Given the description of an element on the screen output the (x, y) to click on. 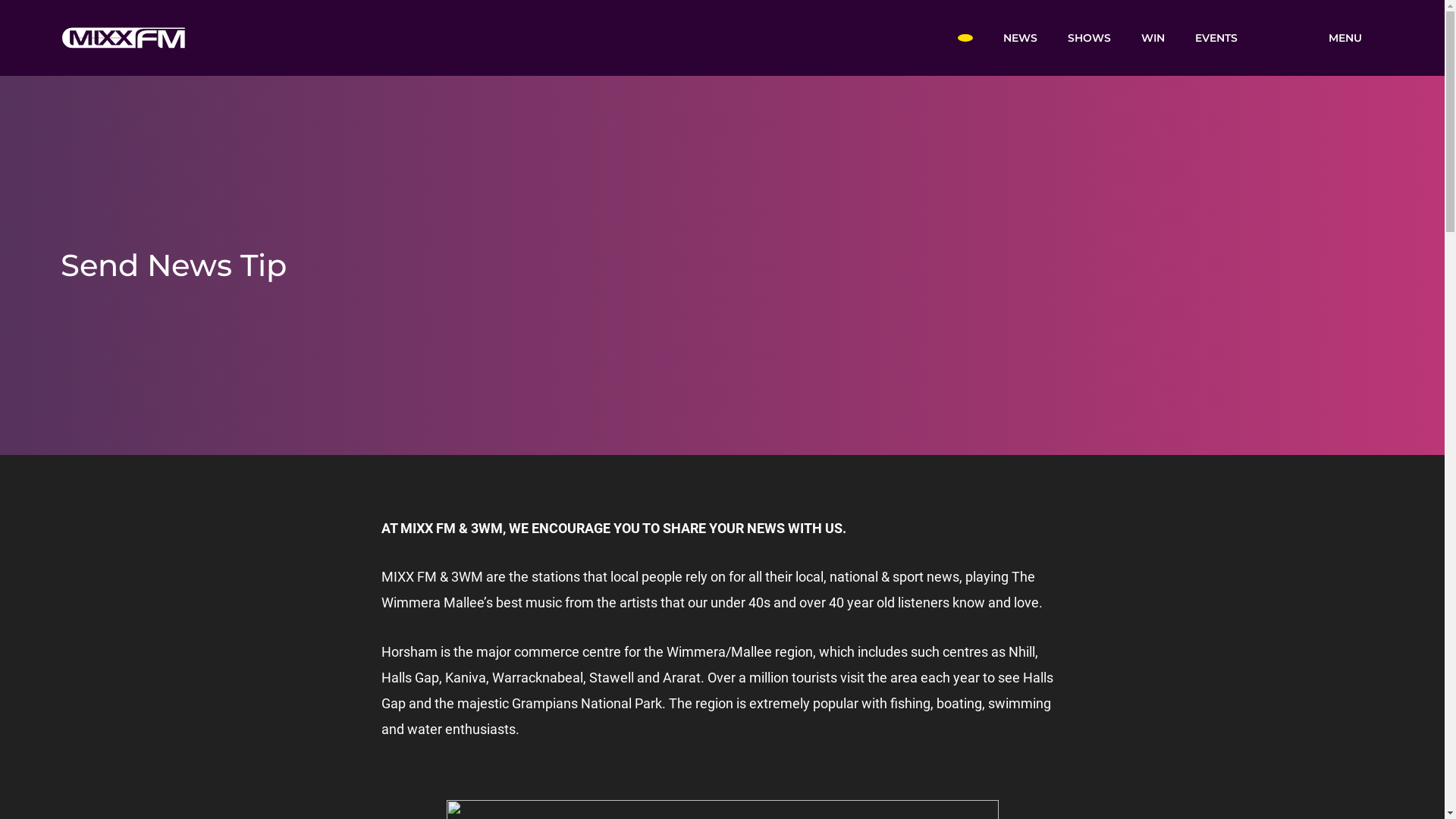
SHOWS Element type: text (1089, 36)
EVENTS Element type: text (1215, 36)
NEWS Element type: text (1019, 36)
WIN Element type: text (1152, 36)
